Given the description of an element on the screen output the (x, y) to click on. 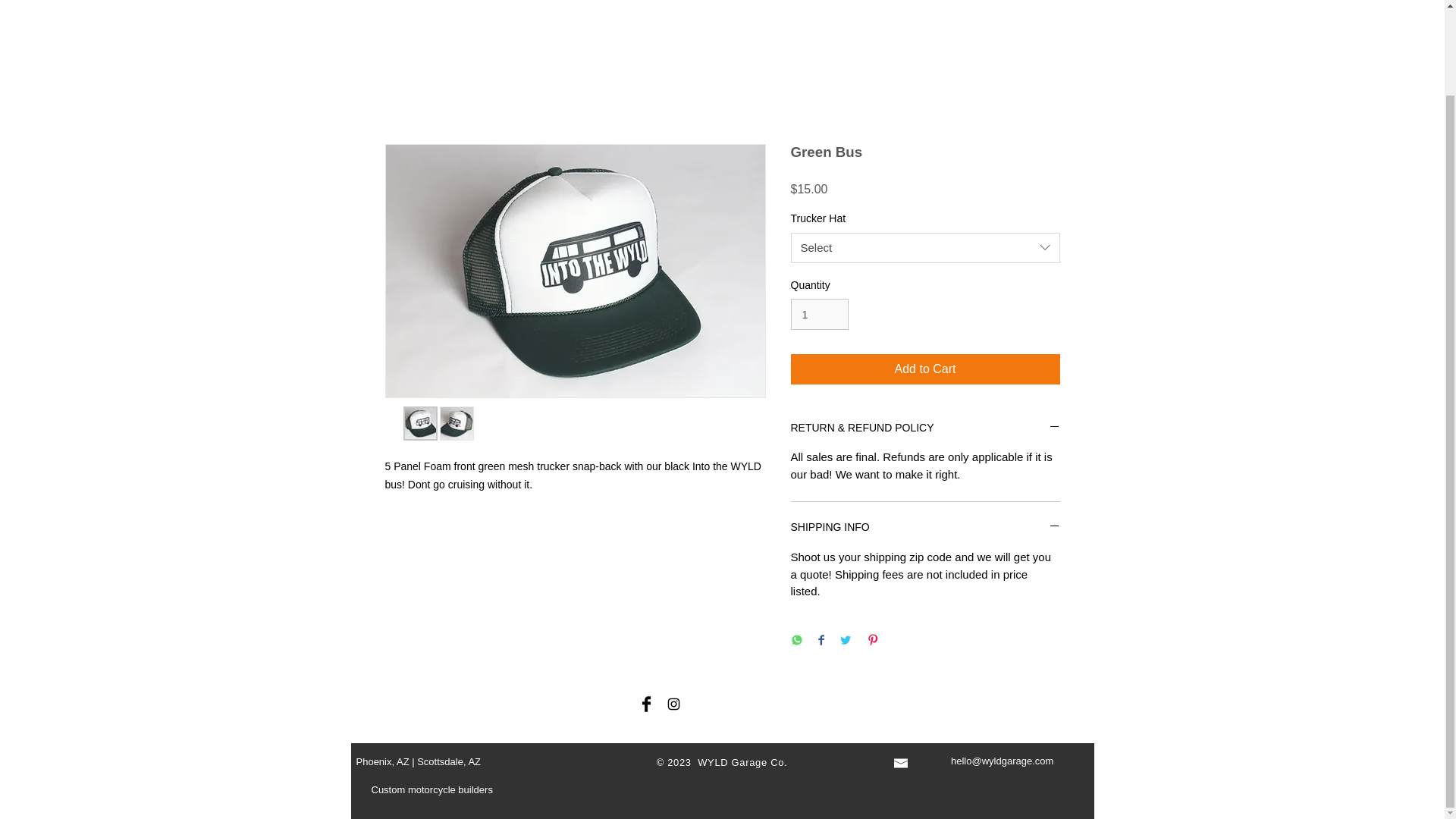
Select (924, 247)
SHIPPING INFO (924, 528)
1 (818, 314)
Add to Cart (924, 368)
